Given the description of an element on the screen output the (x, y) to click on. 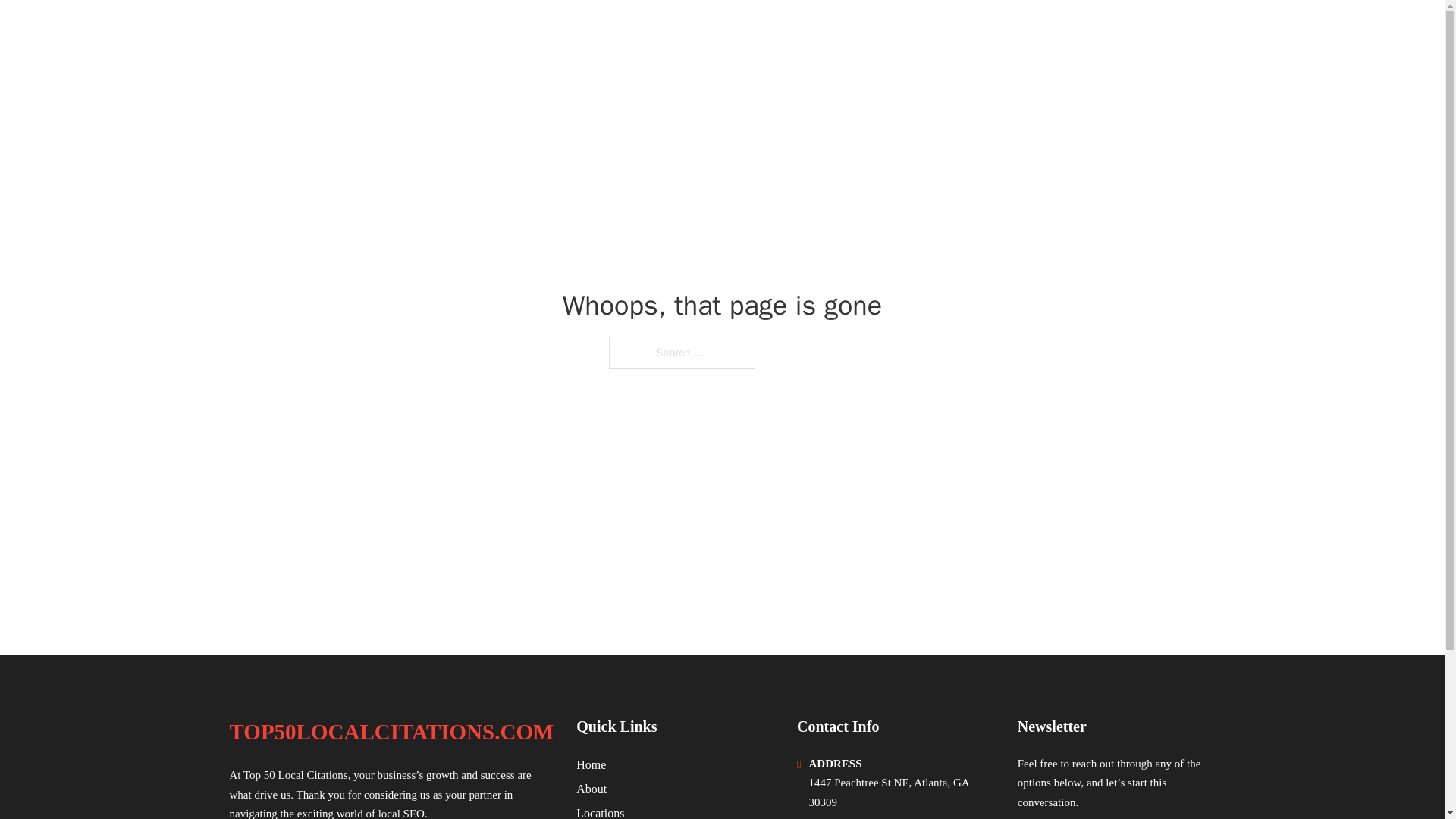
Home (590, 764)
TOP50LOCALCITATIONS.COM (407, 31)
TOP50LOCALCITATIONS.COM (390, 732)
HOME (1025, 31)
Locations (600, 811)
About (591, 788)
LOCATIONS (1098, 31)
